Given the description of an element on the screen output the (x, y) to click on. 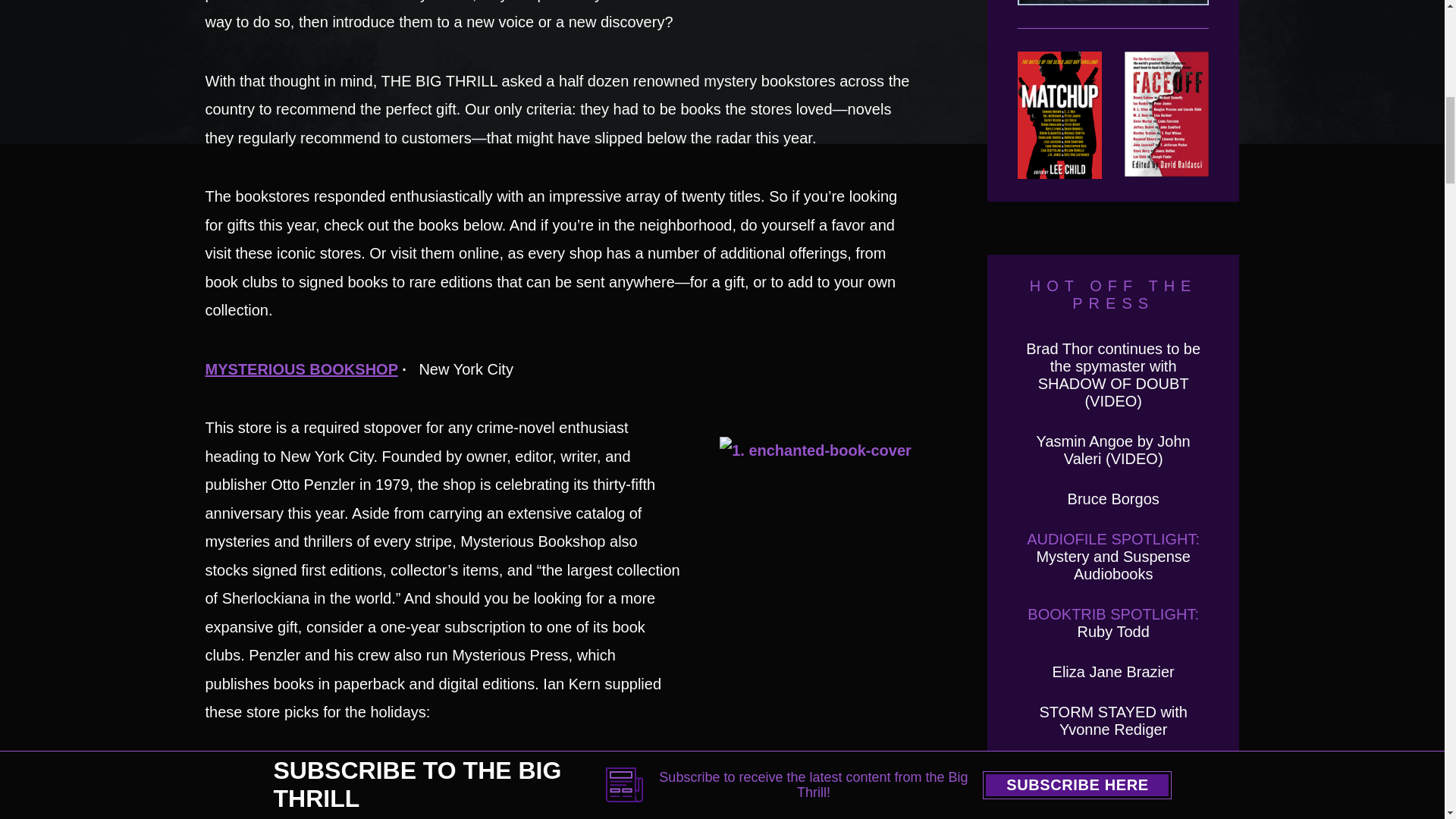
Bruce Borgos (1112, 498)
Eliza Jane Brazier (1113, 671)
Motive for Murder by Ray Collins (1113, 14)
FIVE FATAL FLAWS with Louise Mangos (1112, 778)
Booktrib Spotlight: Ruby Todd (1112, 622)
STORM STAYED with Yvonne Rediger (1113, 720)
AudioFile Spotlight: Mystery and Suspense Audiobooks (1112, 556)
